Given the description of an element on the screen output the (x, y) to click on. 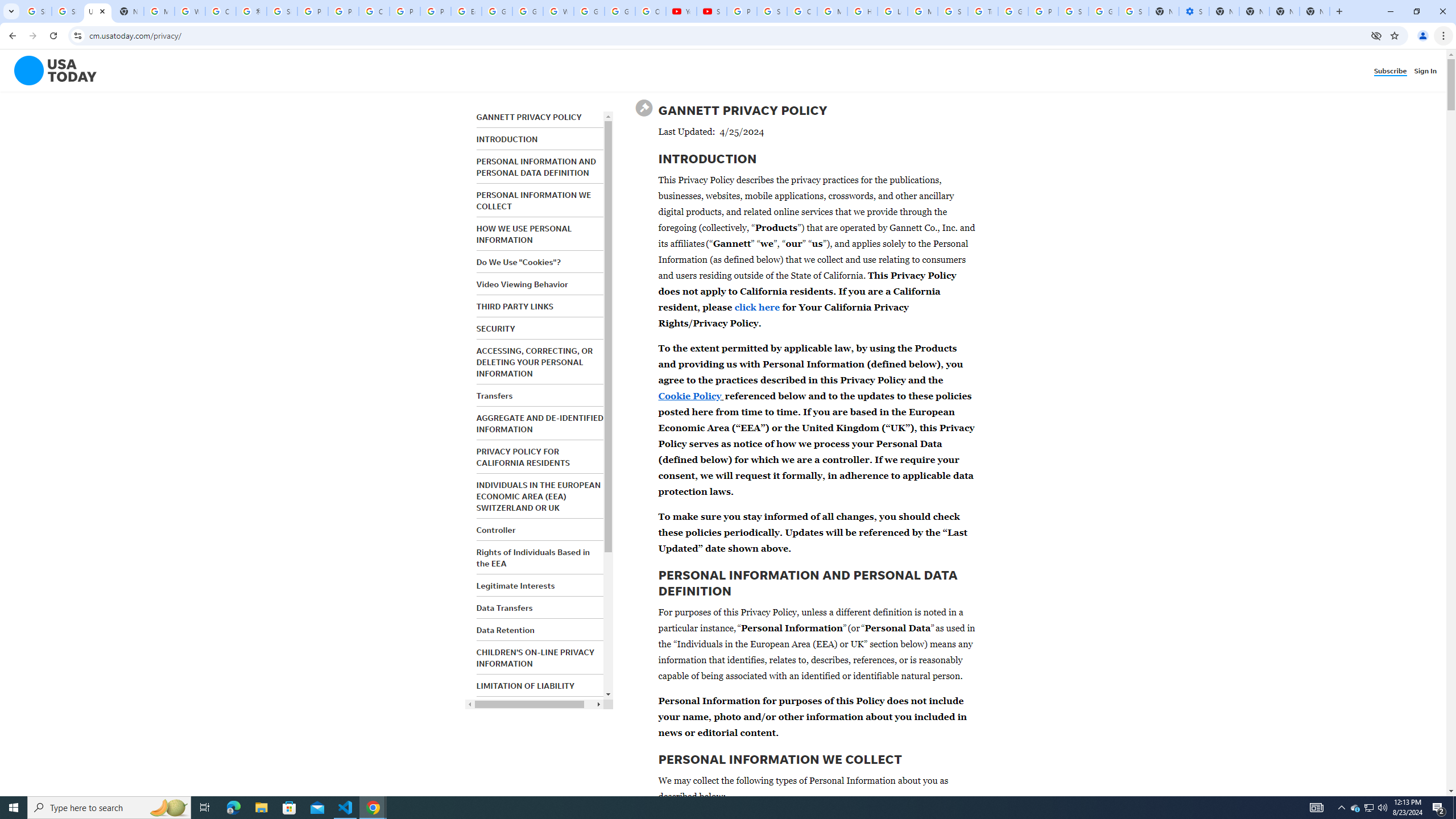
Welcome to My Activity (558, 11)
New Tab (1314, 11)
Who is my administrator? - Google Account Help (189, 11)
Settings - Performance (1193, 11)
PERSONAL INFORMATION WE COLLECT (533, 200)
INTRODUCTION (507, 139)
YouTube (681, 11)
